Given the description of an element on the screen output the (x, y) to click on. 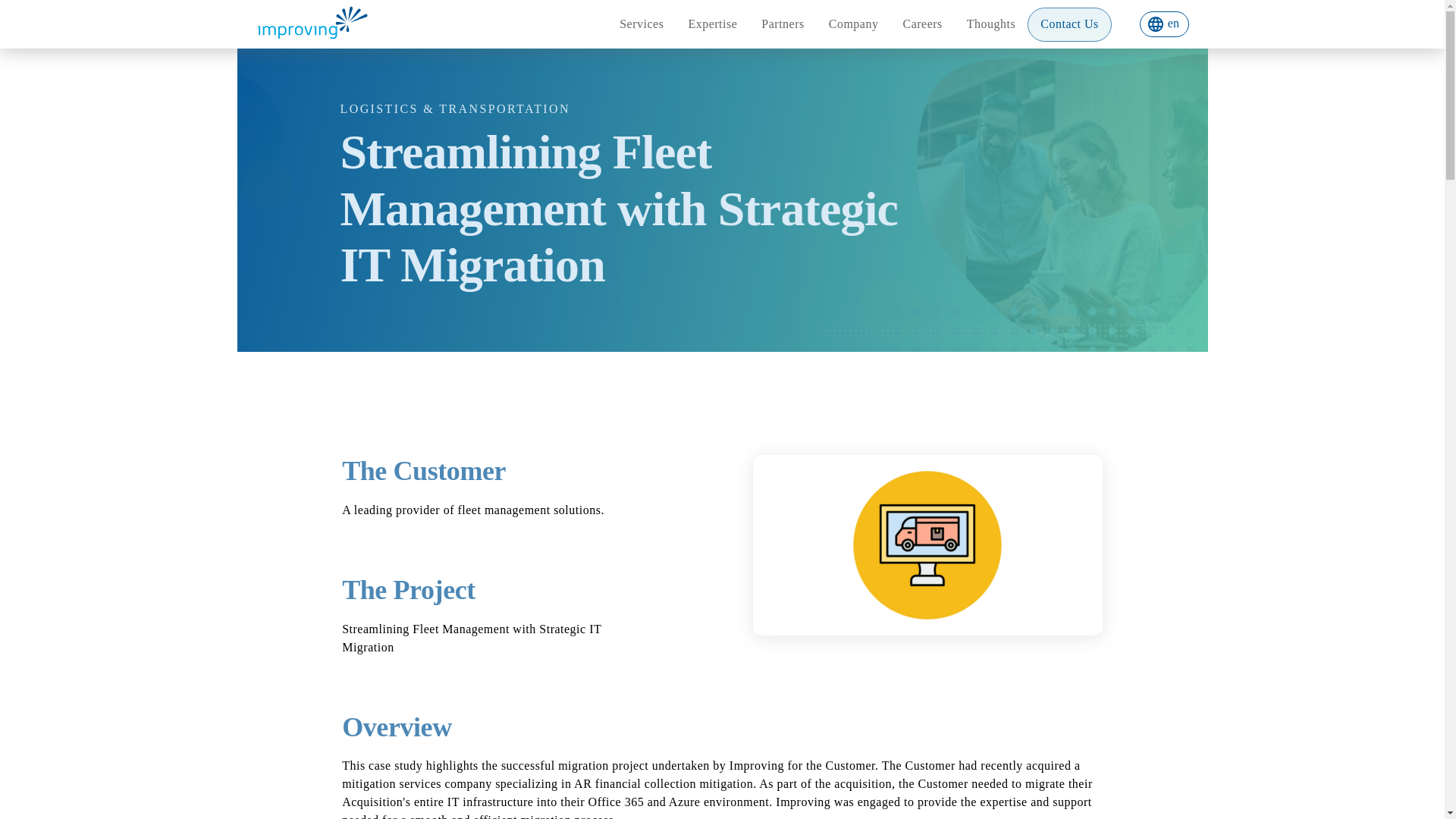
Partners (782, 24)
Contact Us (1069, 24)
Careers (921, 24)
Services (641, 24)
Expertise (712, 24)
Company (853, 24)
Thoughts (991, 24)
